Given the description of an element on the screen output the (x, y) to click on. 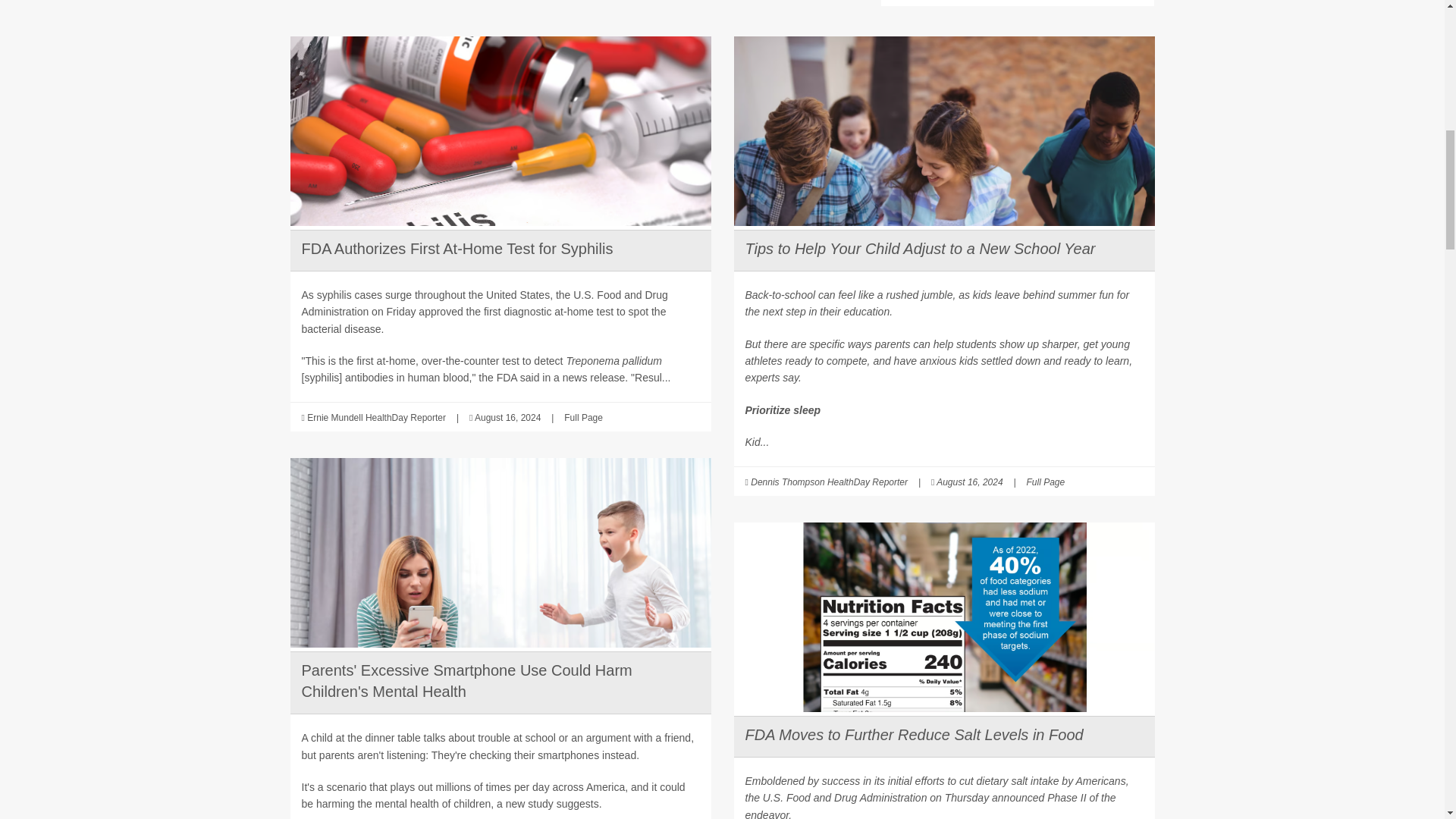
Full Page (583, 417)
FDA Authorizes First At-Home Test for Syphilis (456, 248)
